Given the description of an element on the screen output the (x, y) to click on. 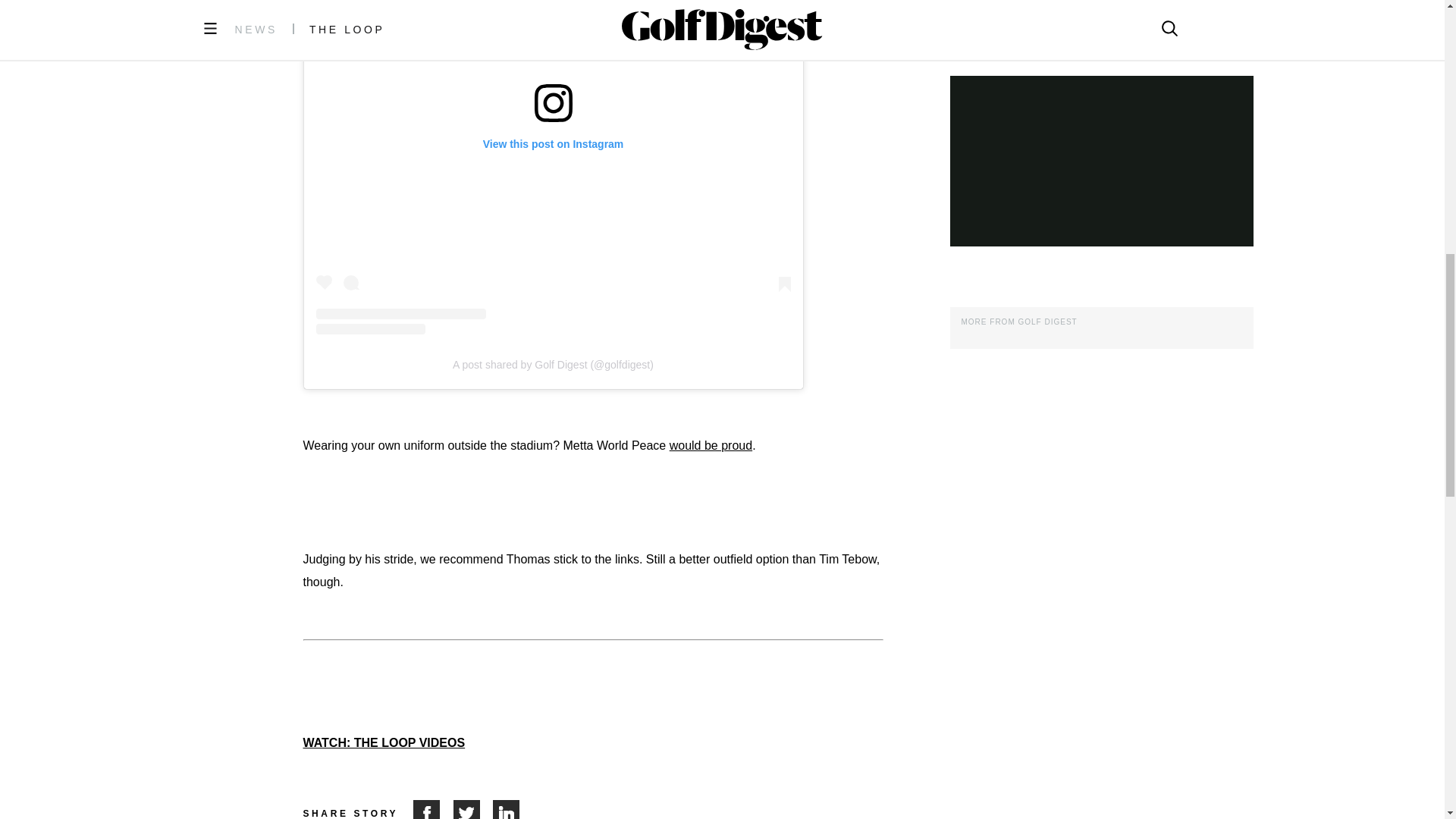
Share on Twitter (472, 809)
Share on LinkedIn (506, 809)
Share on Facebook (432, 809)
